Given the description of an element on the screen output the (x, y) to click on. 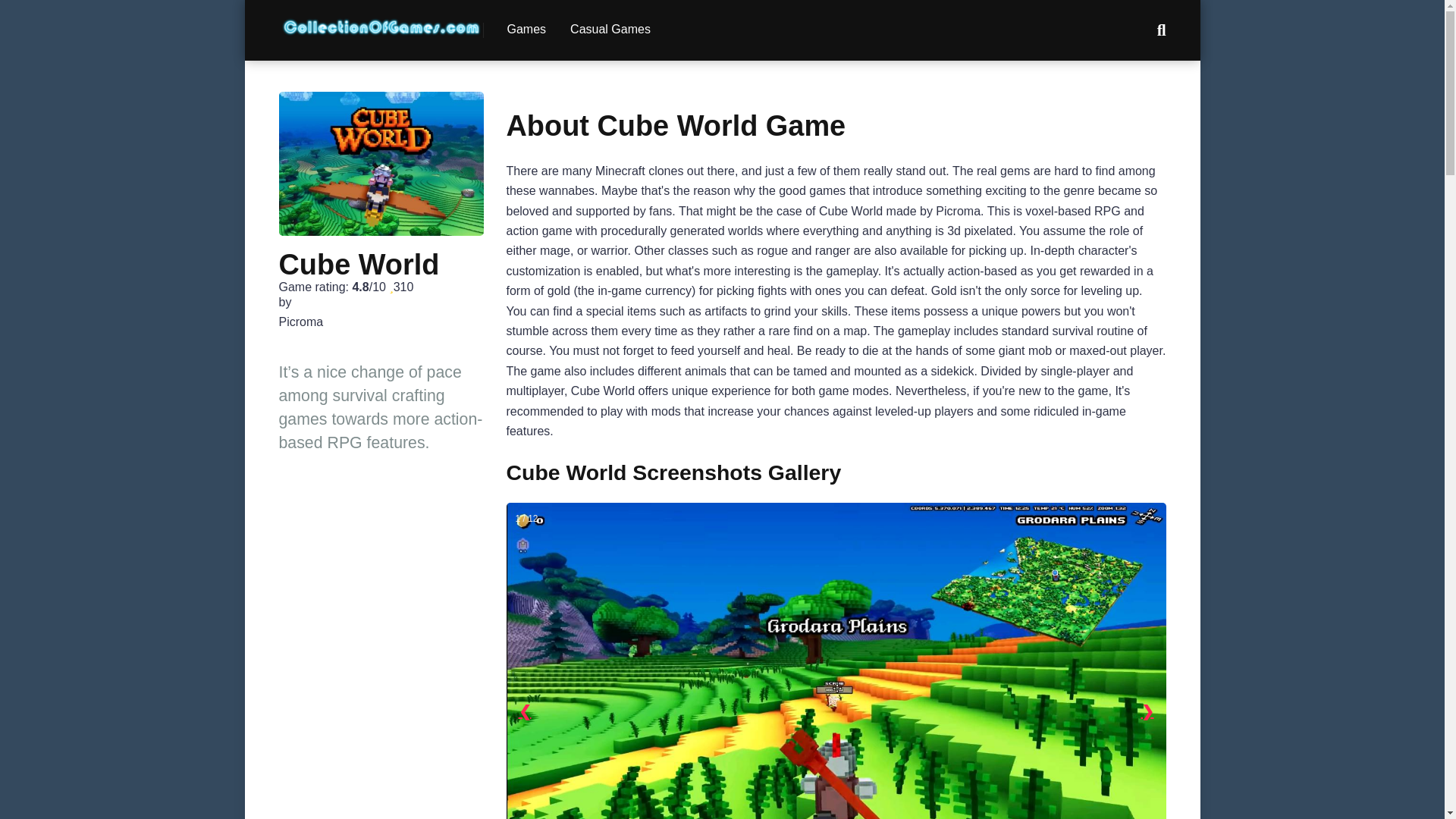
CollectionOFGames (381, 21)
Games (526, 30)
Casual Games (609, 30)
